Given the description of an element on the screen output the (x, y) to click on. 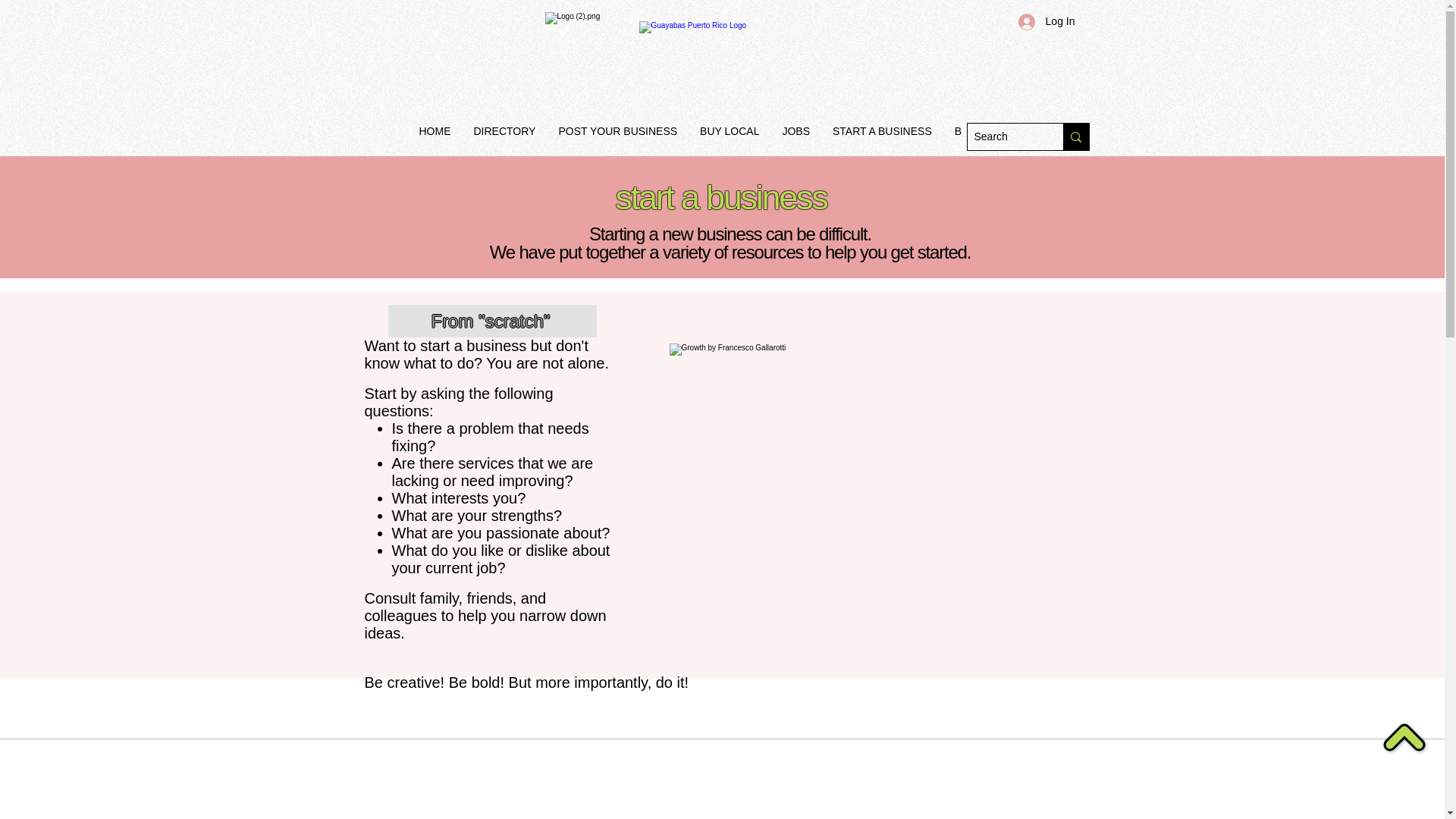
BLOG VERDE (989, 137)
JOBS (795, 137)
POST YOUR BUSINESS (617, 137)
From "scratch" (492, 320)
Log In (1046, 22)
DIRECTORY (505, 137)
START A BUSINESS (882, 137)
HOME (435, 137)
